Given the description of an element on the screen output the (x, y) to click on. 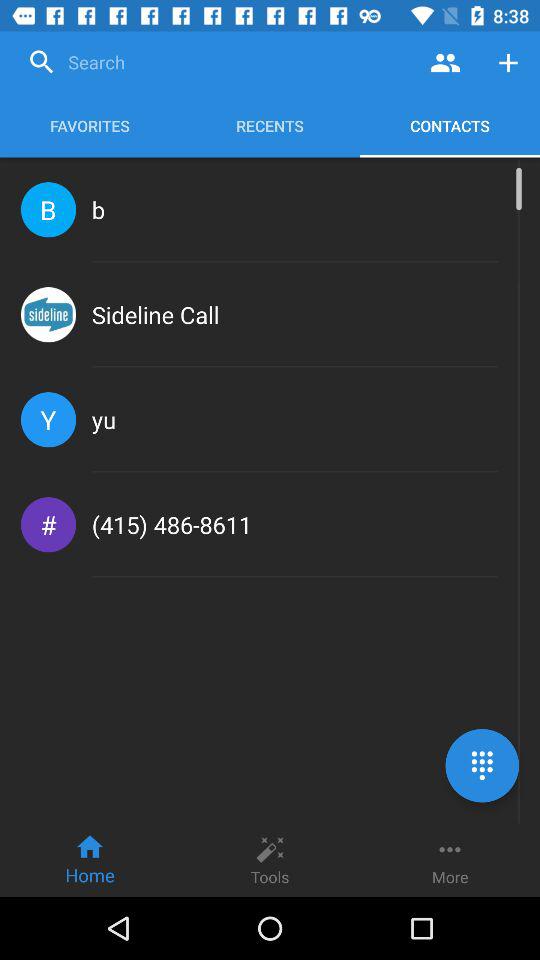
turn on icon next to sideline call icon (48, 314)
